Given the description of an element on the screen output the (x, y) to click on. 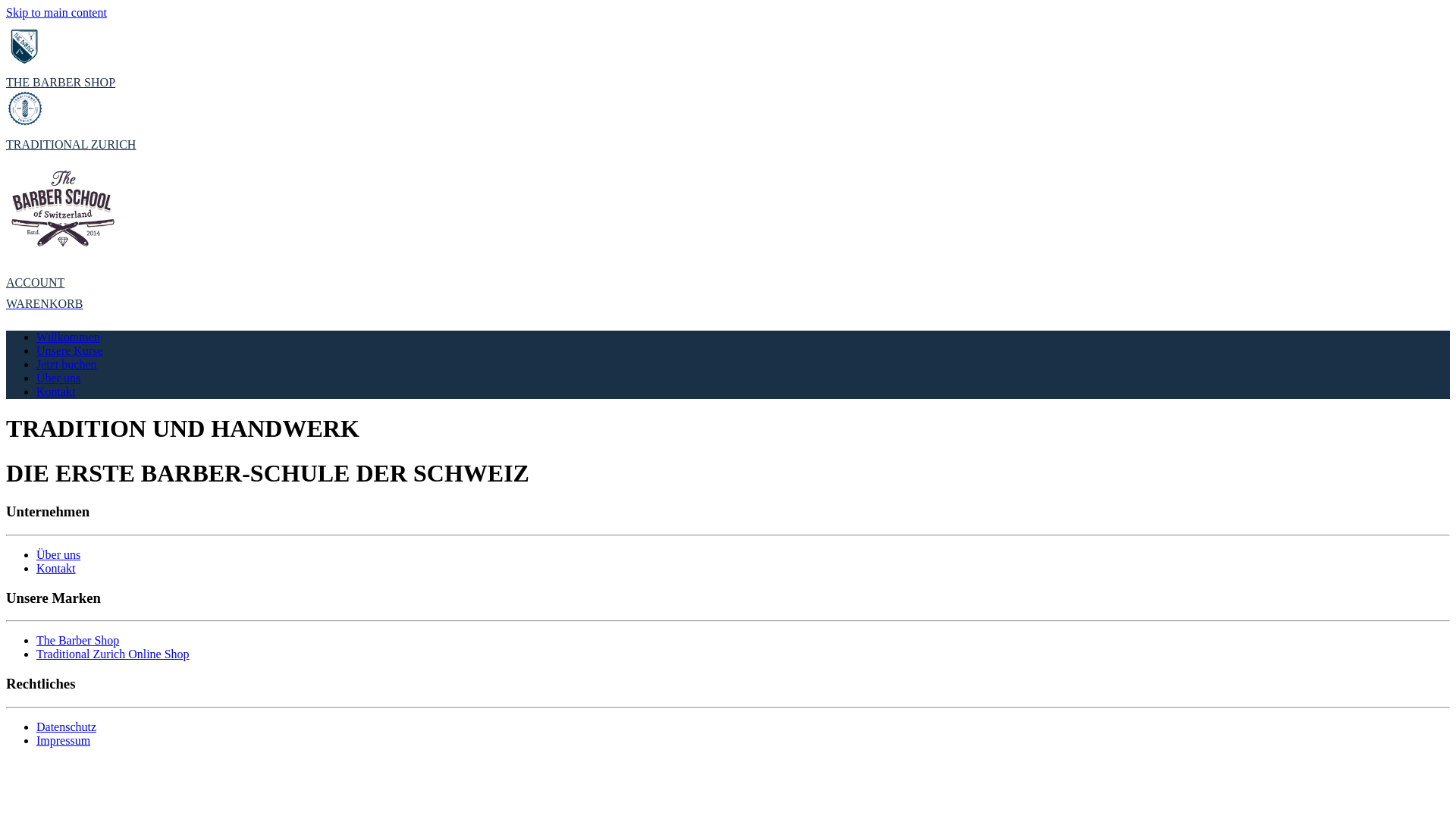
The Barber Shop Element type: text (77, 639)
Traditional Zurich Online Shop Element type: text (112, 653)
Skip to main content Element type: text (56, 12)
Willkommen Element type: text (68, 336)
WARENKORB Element type: text (727, 303)
Unsere Kurse Element type: text (69, 350)
Datenschutz Element type: text (66, 726)
Kontakt Element type: text (55, 391)
ACCOUNT Element type: text (727, 282)
Kontakt Element type: text (55, 567)
TRADITIONAL ZURICH Element type: text (727, 120)
THE BARBER SHOP Element type: text (727, 58)
Impressum Element type: text (63, 740)
Jetzt buchen Element type: text (66, 363)
